Given the description of an element on the screen output the (x, y) to click on. 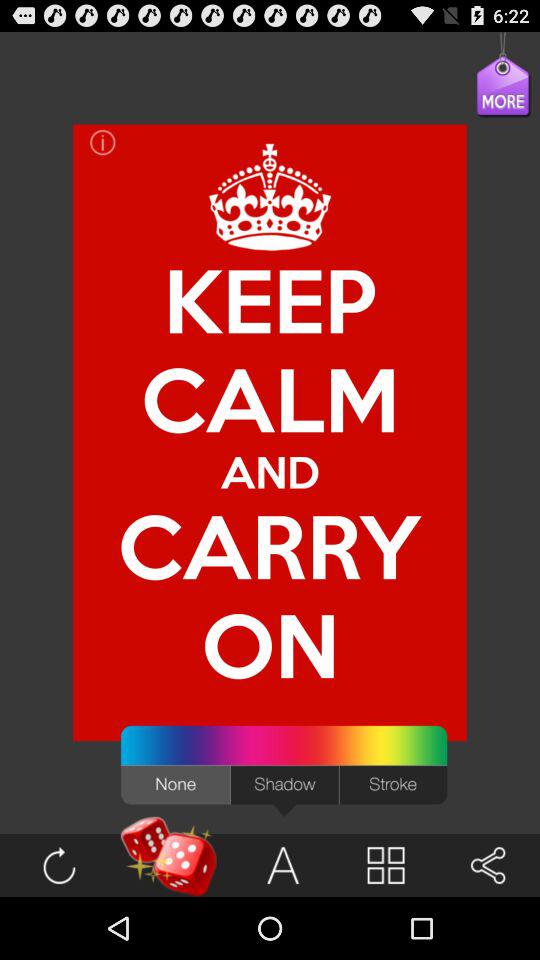
flip until the calm (269, 398)
